Given the description of an element on the screen output the (x, y) to click on. 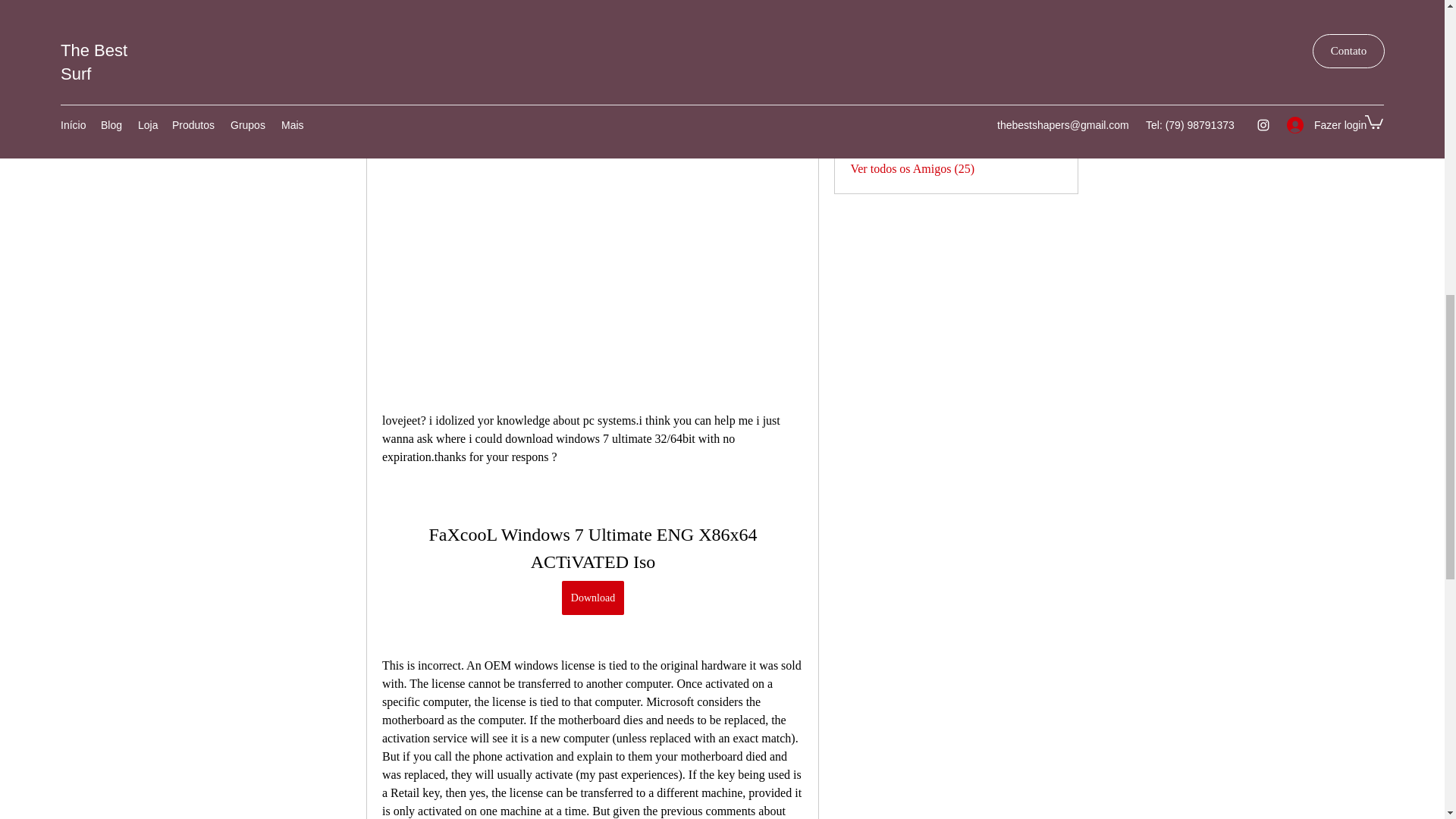
Seguir (1046, 22)
Glauco Brito (863, 22)
Glauco Brito (917, 20)
Lucas Gabriel (863, 58)
aliceblue077 (863, 94)
Lucas Gabriel (920, 56)
Seguir (1046, 58)
Download (591, 597)
Kristiansen Del Castillo (863, 131)
